Given the description of an element on the screen output the (x, y) to click on. 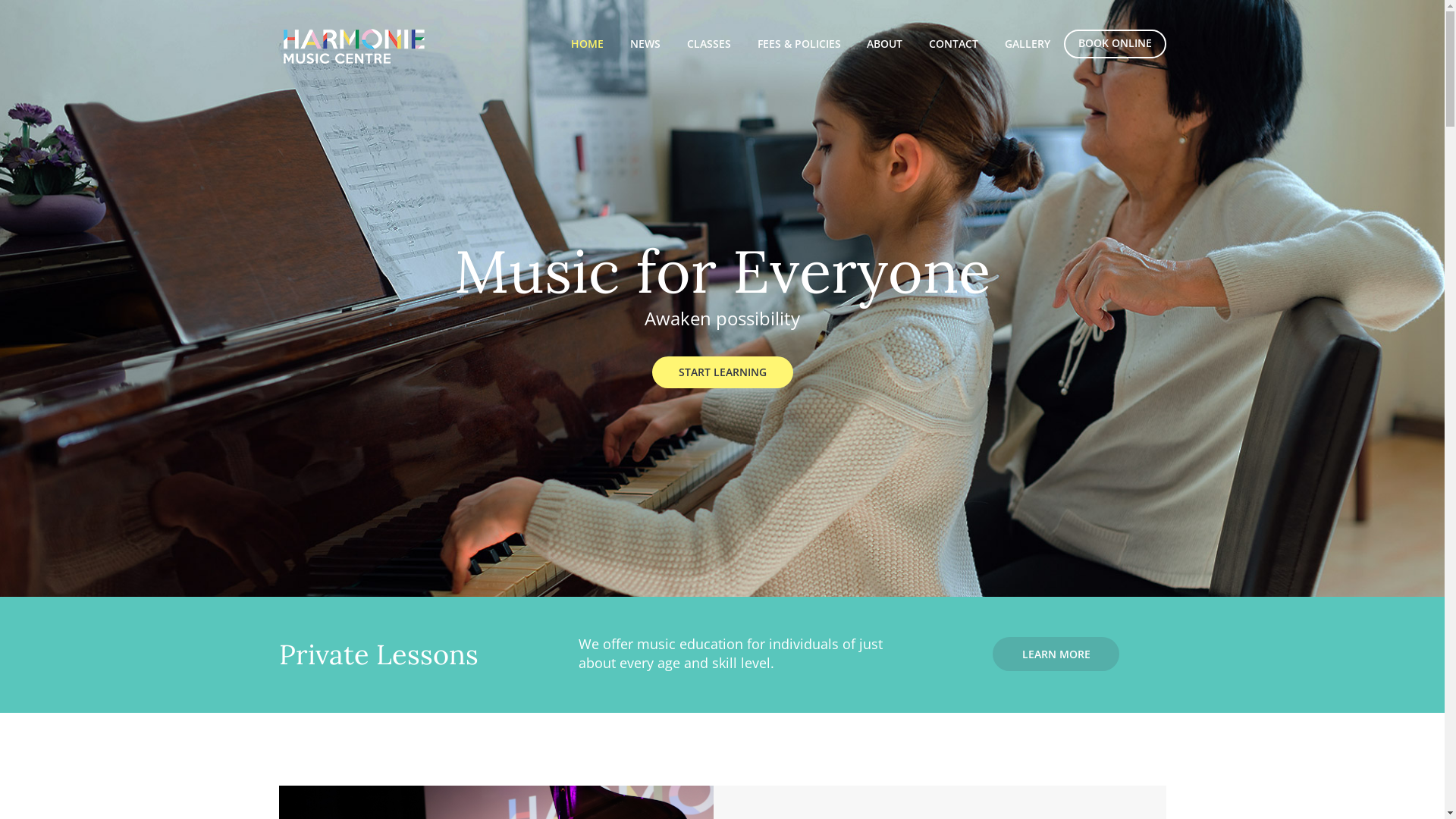
CONTACT Element type: text (953, 43)
BOOK ONLINE Element type: text (1114, 43)
FEES & POLICIES Element type: text (798, 43)
ABOUT Element type: text (884, 43)
HOME Element type: text (586, 43)
START LEARNING Element type: text (722, 372)
LEARN MORE Element type: text (1055, 654)
NEWS Element type: text (644, 43)
GALLERY Element type: text (1027, 43)
CLASSES Element type: text (708, 43)
